Given the description of an element on the screen output the (x, y) to click on. 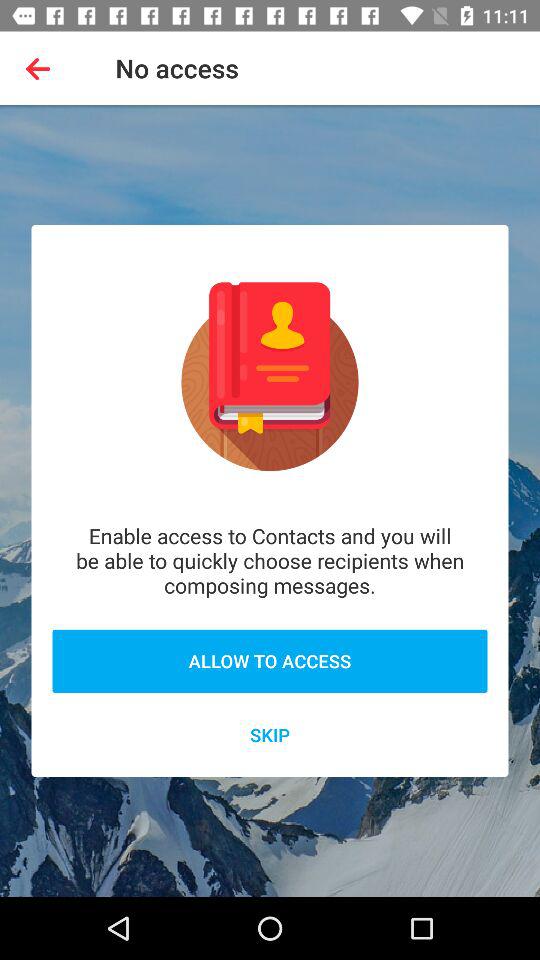
launch the skip icon (269, 734)
